Given the description of an element on the screen output the (x, y) to click on. 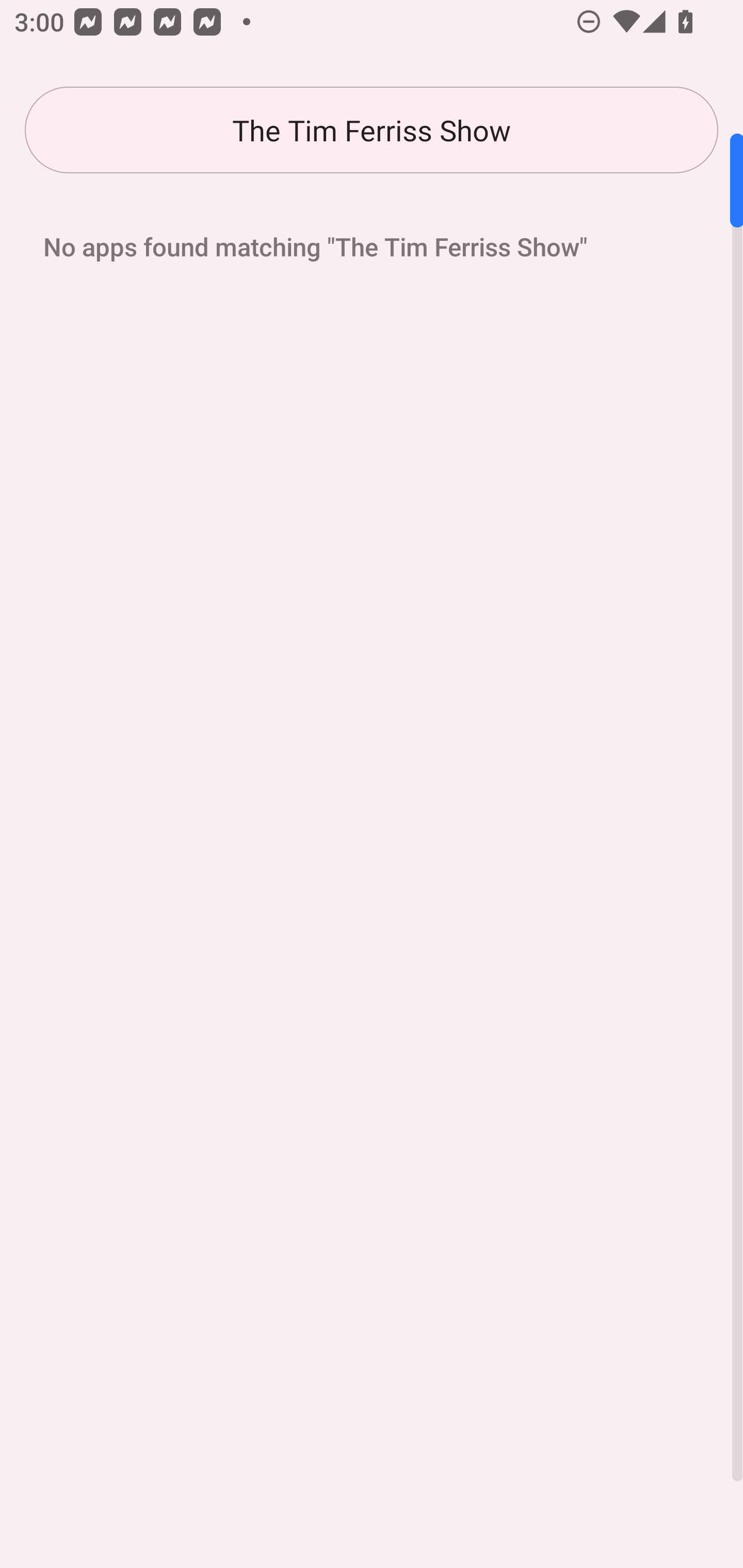
The Tim Ferriss Show (371, 130)
